Given the description of an element on the screen output the (x, y) to click on. 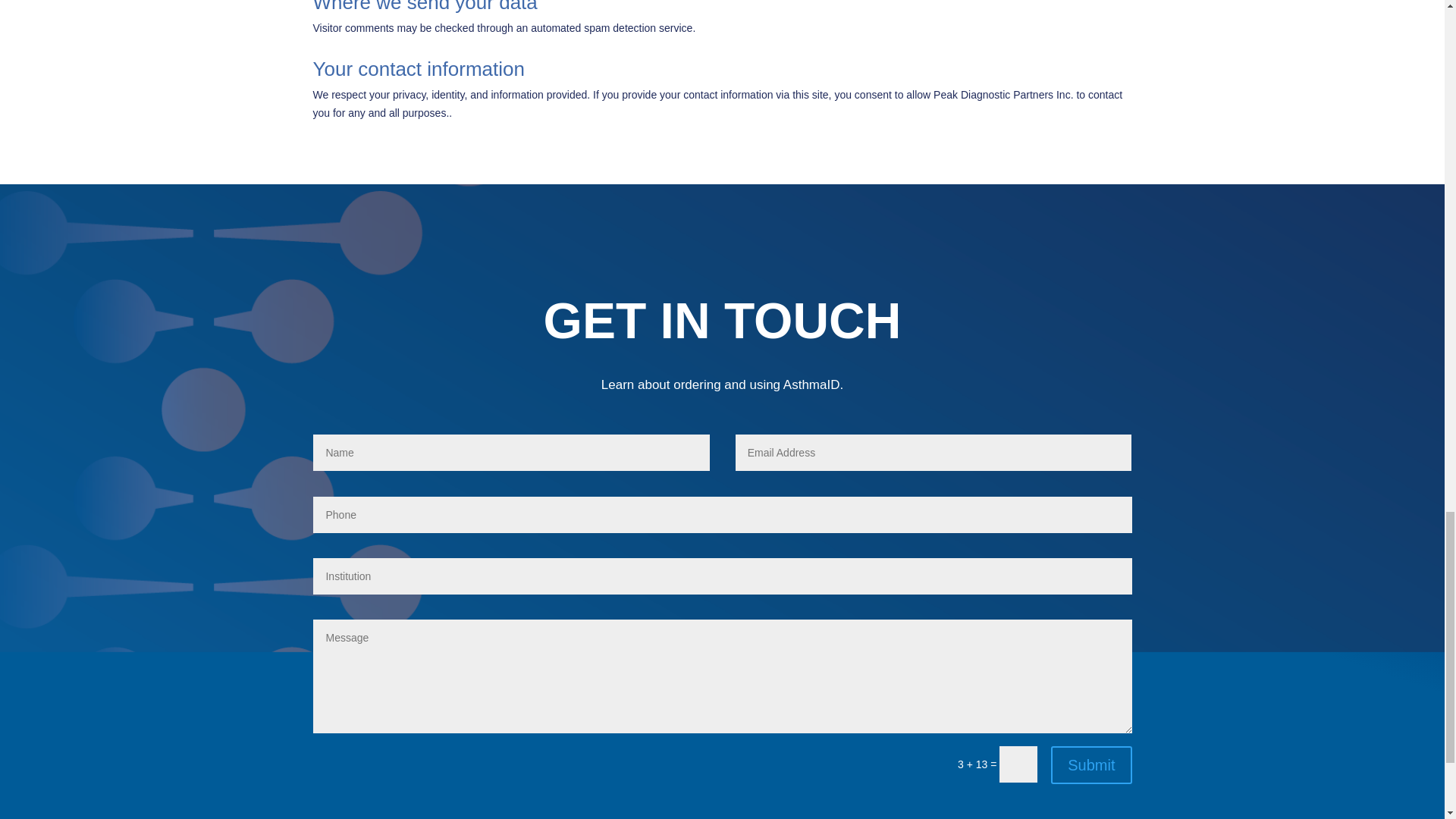
Submit (1091, 764)
